Given the description of an element on the screen output the (x, y) to click on. 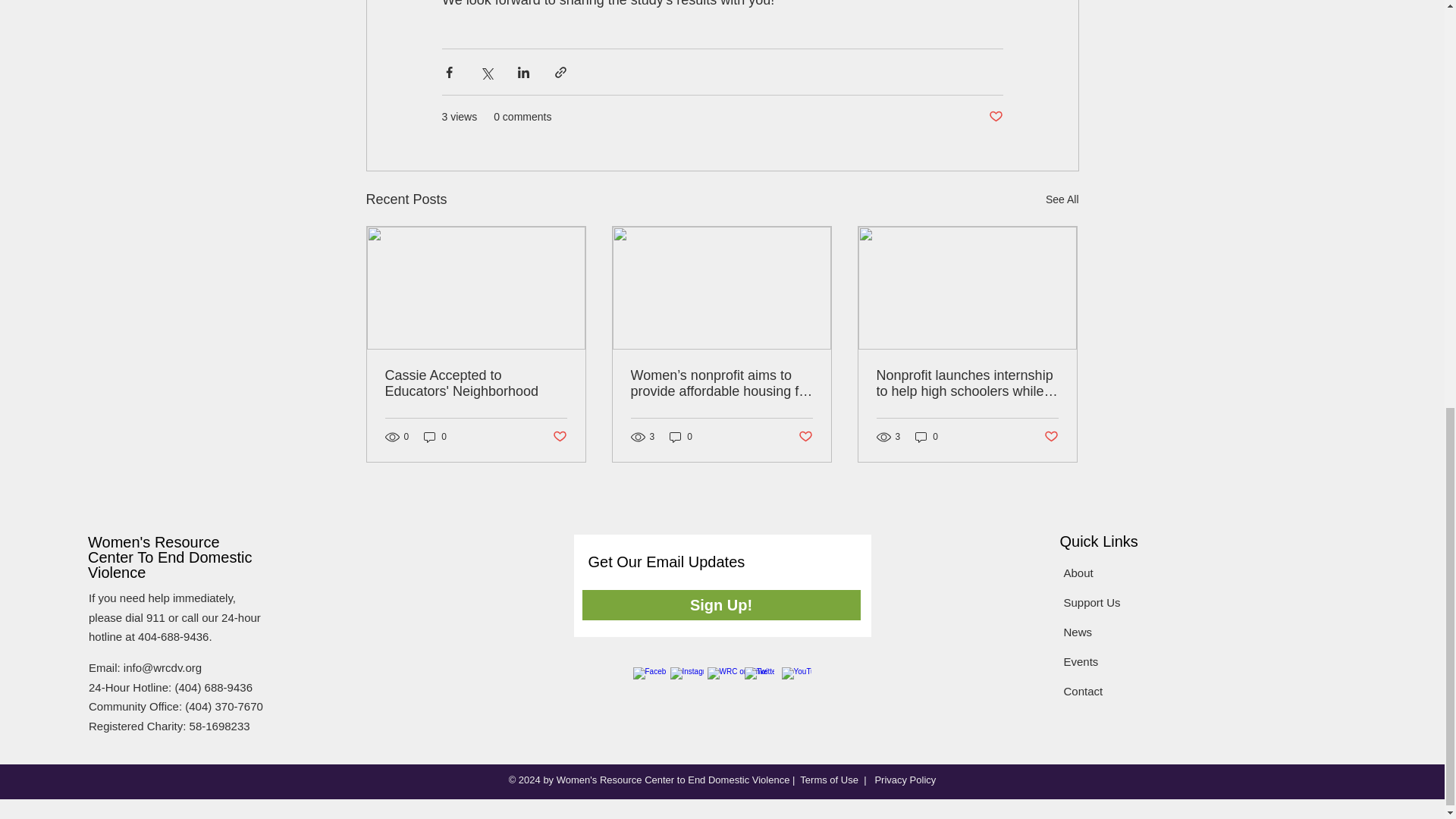
0 (435, 436)
Cassie Accepted to Educators' Neighborhood (476, 383)
Post not marked as liked (558, 437)
Post not marked as liked (995, 116)
See All (1061, 199)
